Given the description of an element on the screen output the (x, y) to click on. 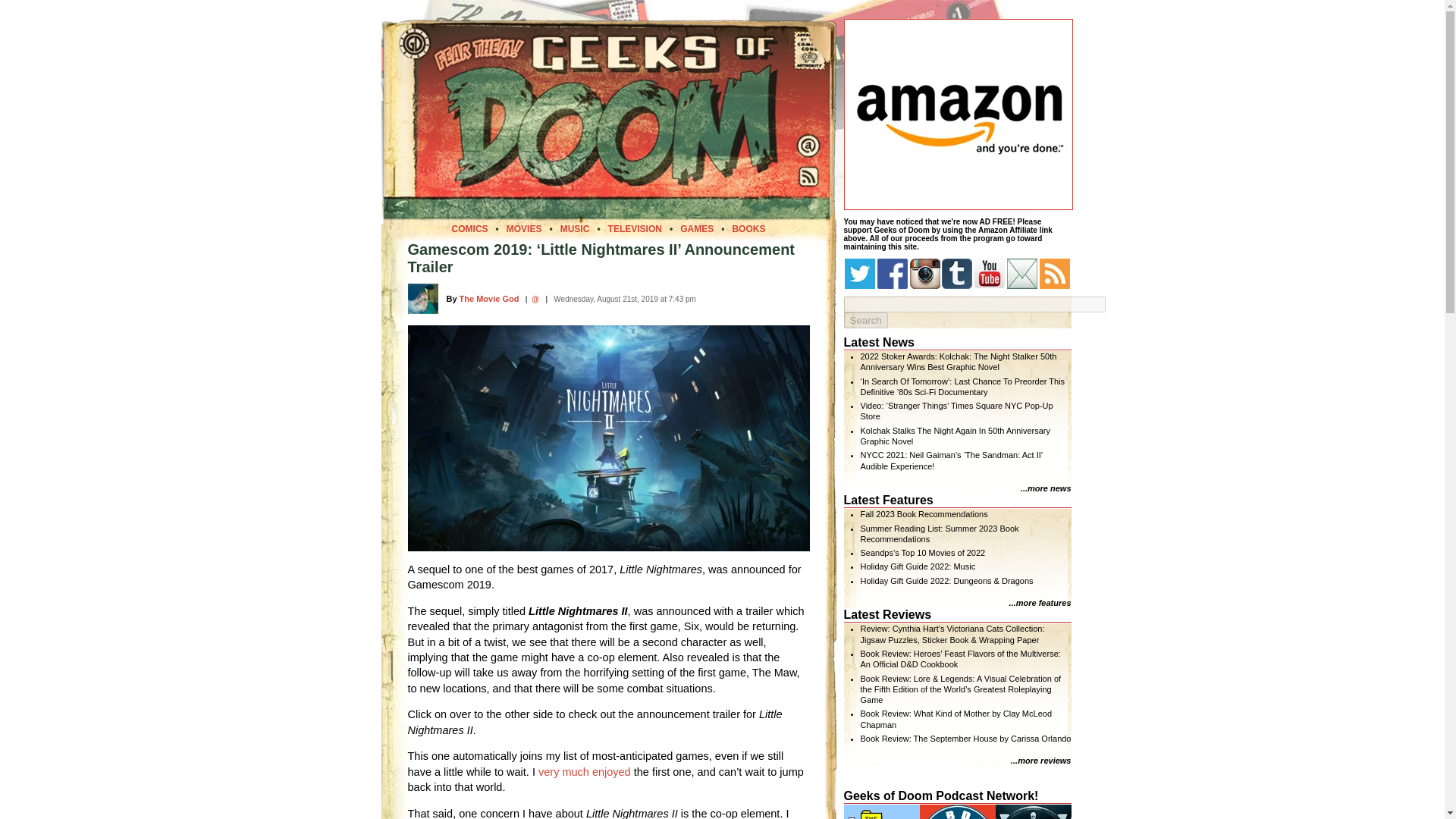
MUSIC (574, 228)
View The Movie God's profile (489, 298)
MOVIES (523, 228)
Follow The Movie God on Twitter (534, 298)
GAMES (696, 228)
very much enjoyed (584, 771)
Follow Geeks of Doom on Facebook (892, 273)
TELEVISION (635, 228)
BOOKS (748, 228)
Follow Geeks of Doom on Tumblr (957, 273)
The Movie God (489, 298)
Follow Geeks of Doom on Instagram (925, 273)
Follow Geeks of Doom on Twitter (859, 273)
COMICS (469, 228)
Search (864, 320)
